Given the description of an element on the screen output the (x, y) to click on. 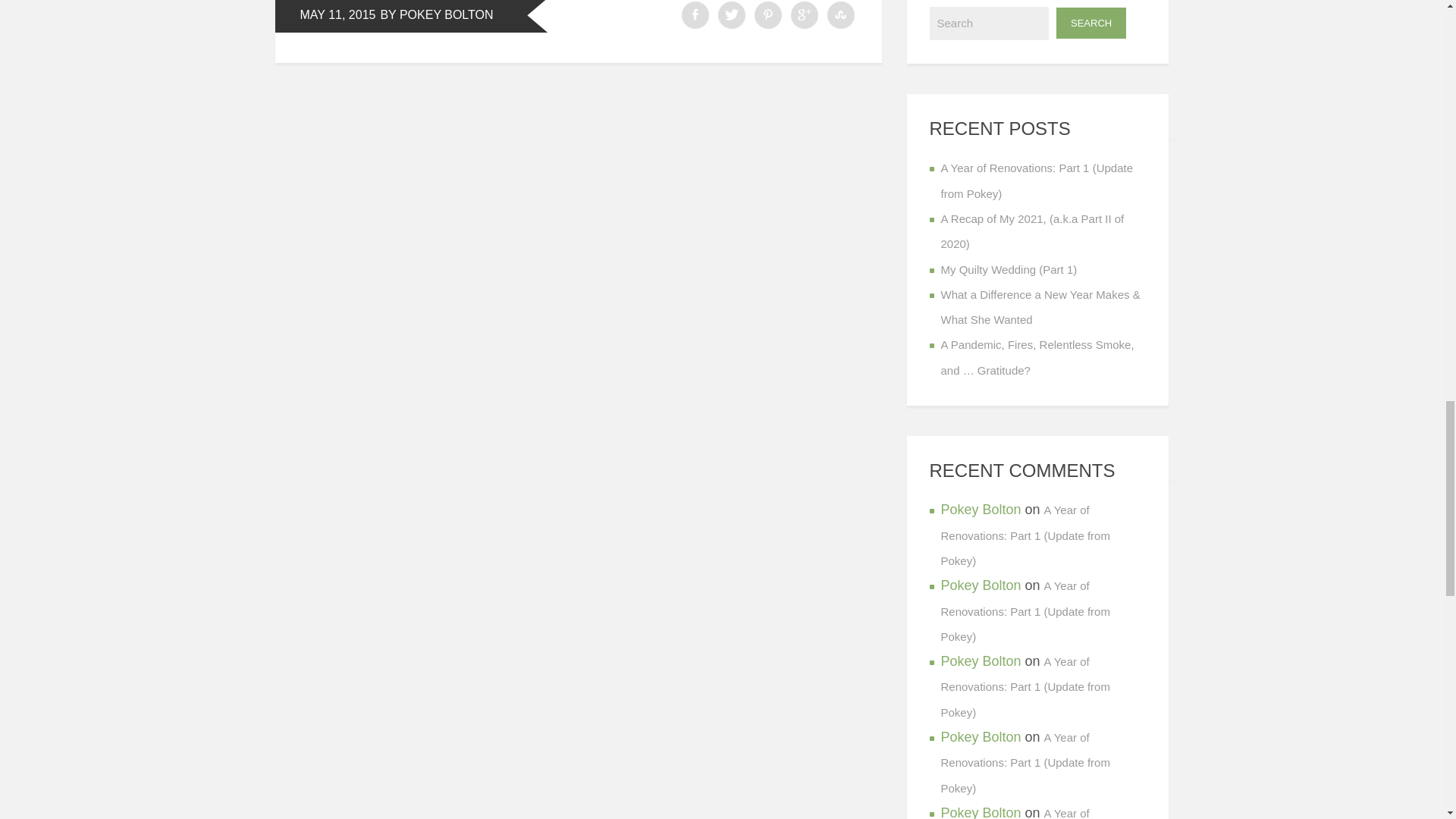
MAY 11, 2015 (337, 15)
Search (1091, 22)
Search (989, 23)
BY POKEY BOLTON (436, 15)
Search (1091, 22)
